Given the description of an element on the screen output the (x, y) to click on. 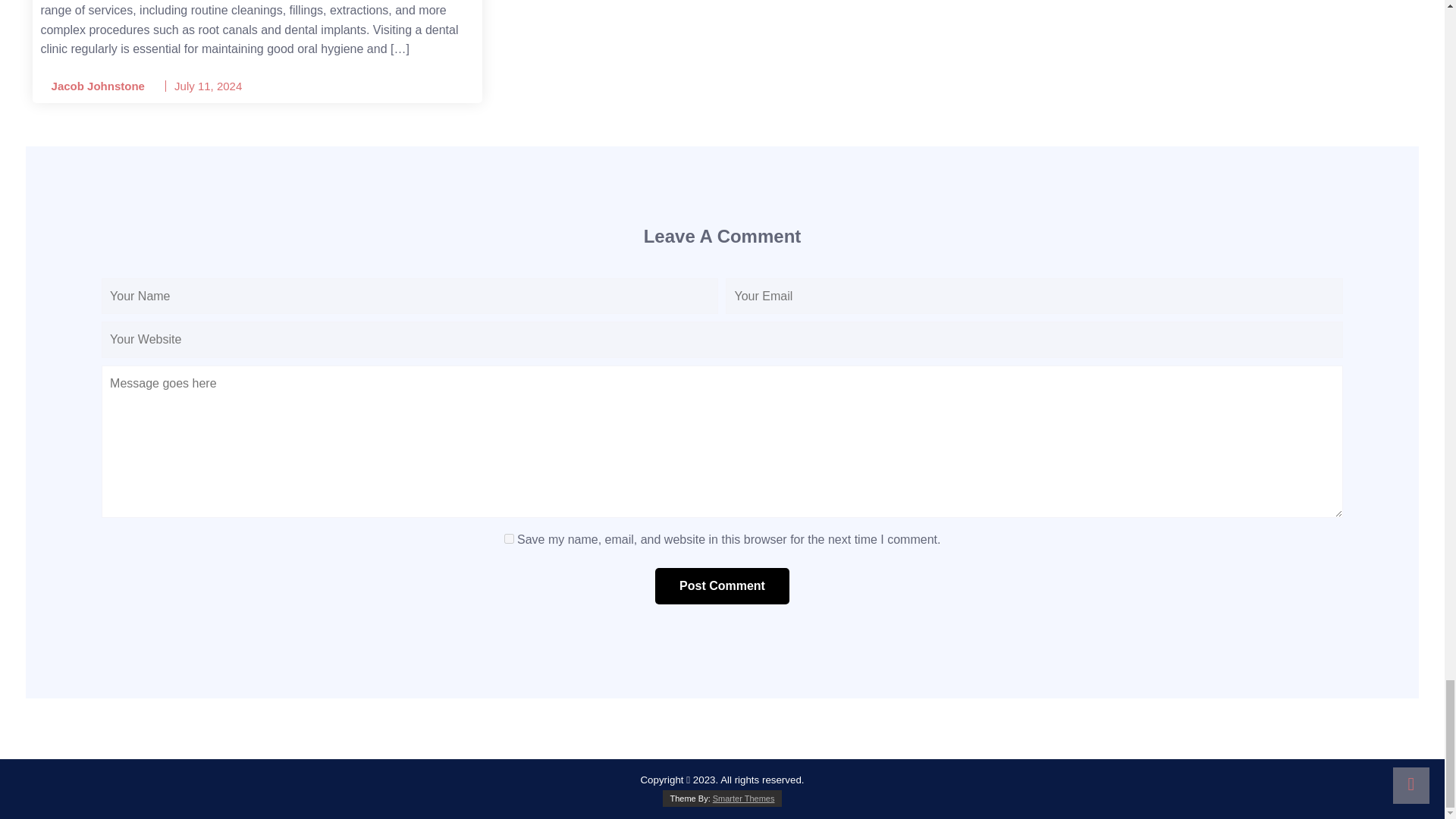
Smarter Themes (743, 798)
July 11, 2024 (207, 85)
Post Comment (722, 586)
yes (508, 538)
Jacob Johnstone (92, 85)
